Given the description of an element on the screen output the (x, y) to click on. 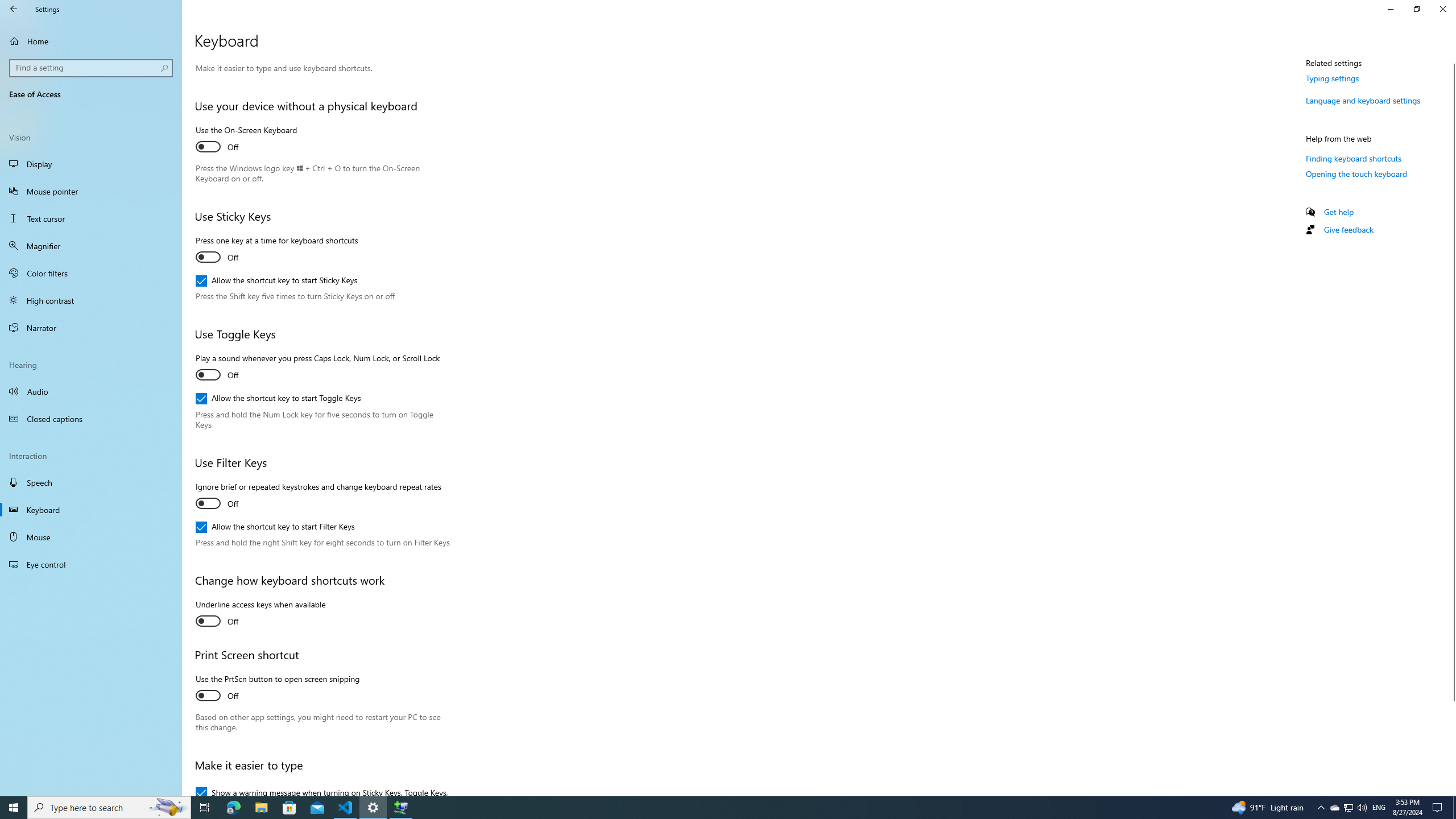
Type here to search (108, 807)
Closed captions (91, 418)
Audio (91, 390)
Typing settings (1332, 77)
Vertical Small Increase (1451, 791)
Back (13, 9)
Use the PrtScn button to open screen snipping (277, 688)
Text cursor (91, 217)
Eye control (91, 564)
Get help (1338, 211)
Tray Input Indicator - English (United States) (1378, 807)
Notification Chevron (1320, 807)
Restore Settings (1416, 9)
